Given the description of an element on the screen output the (x, y) to click on. 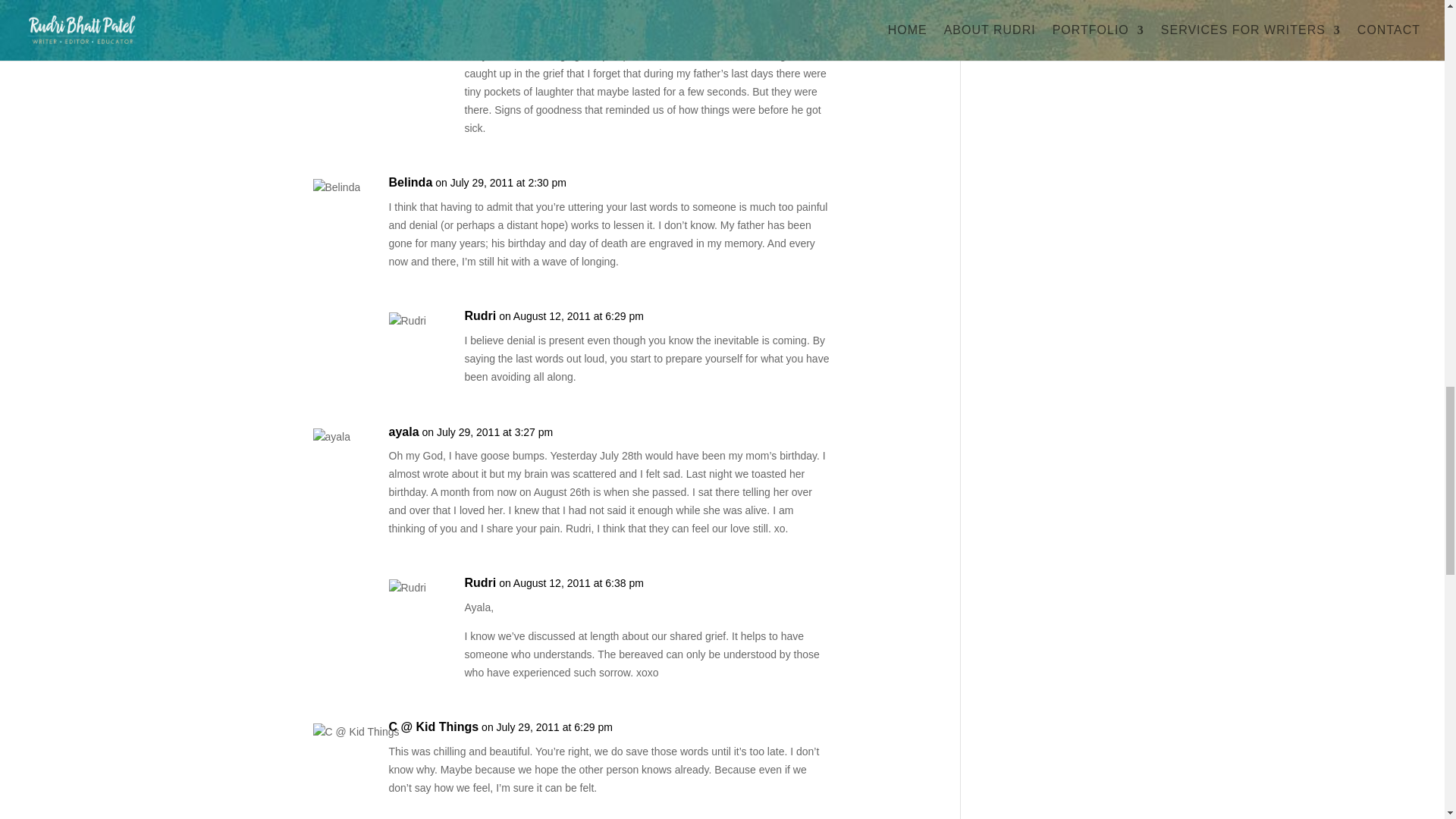
Belinda (410, 182)
ayala (403, 432)
